Given the description of an element on the screen output the (x, y) to click on. 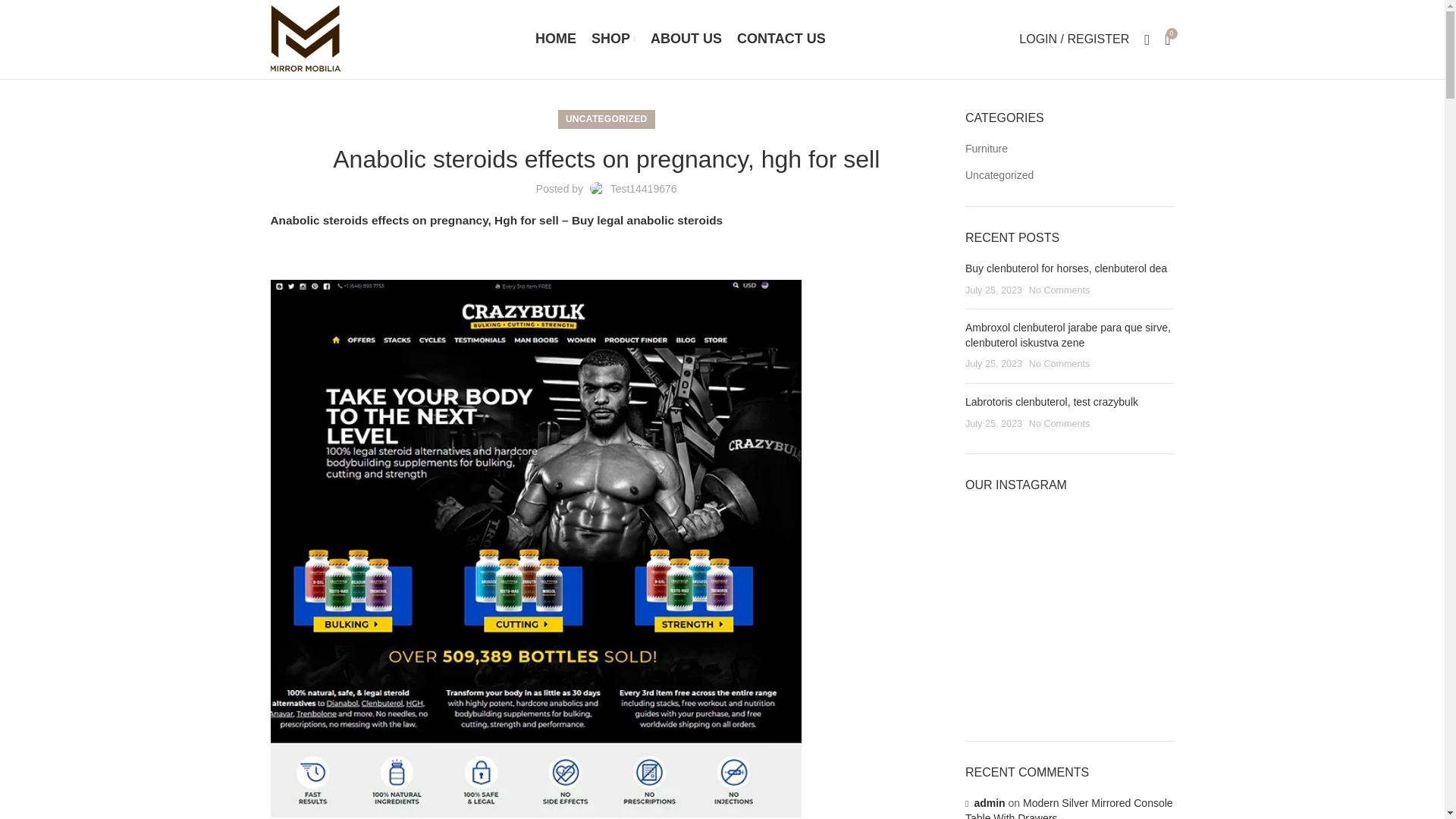
CONTACT US (780, 39)
Test14419676 (643, 188)
HOME (555, 39)
SHOP (613, 39)
Permalink to Labrotoris clenbuterol, test crazybulk (1051, 401)
UNCATEGORIZED (606, 118)
Log in (1003, 280)
Permalink to Buy clenbuterol for horses, clenbuterol dea (1066, 268)
My account (1074, 39)
